Given the description of an element on the screen output the (x, y) to click on. 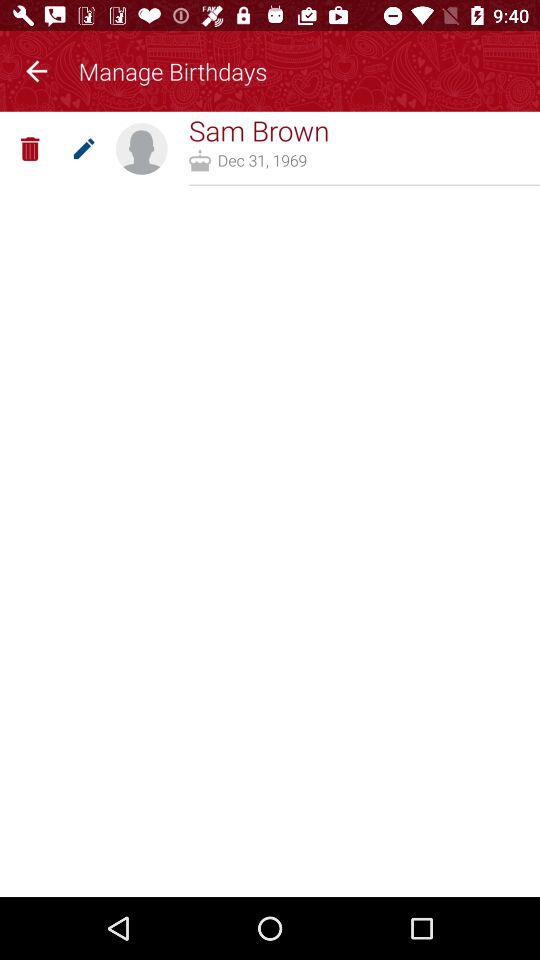
launch the icon next to the manage birthdays app (36, 68)
